Given the description of an element on the screen output the (x, y) to click on. 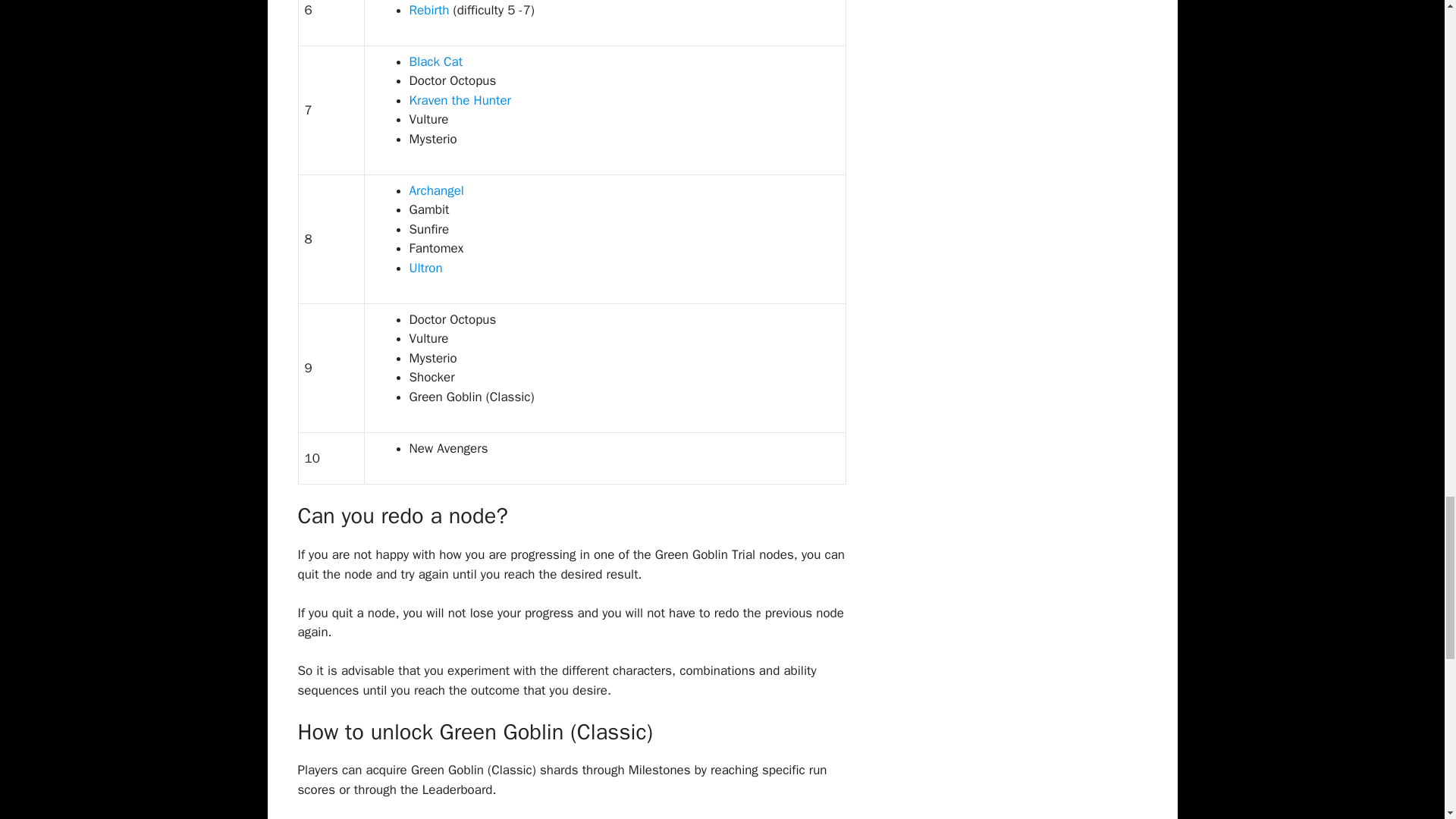
Archangel (436, 190)
Kraven the Hunter (460, 100)
Black Cat (436, 61)
Ultron (425, 268)
Rebirth (429, 10)
